Given the description of an element on the screen output the (x, y) to click on. 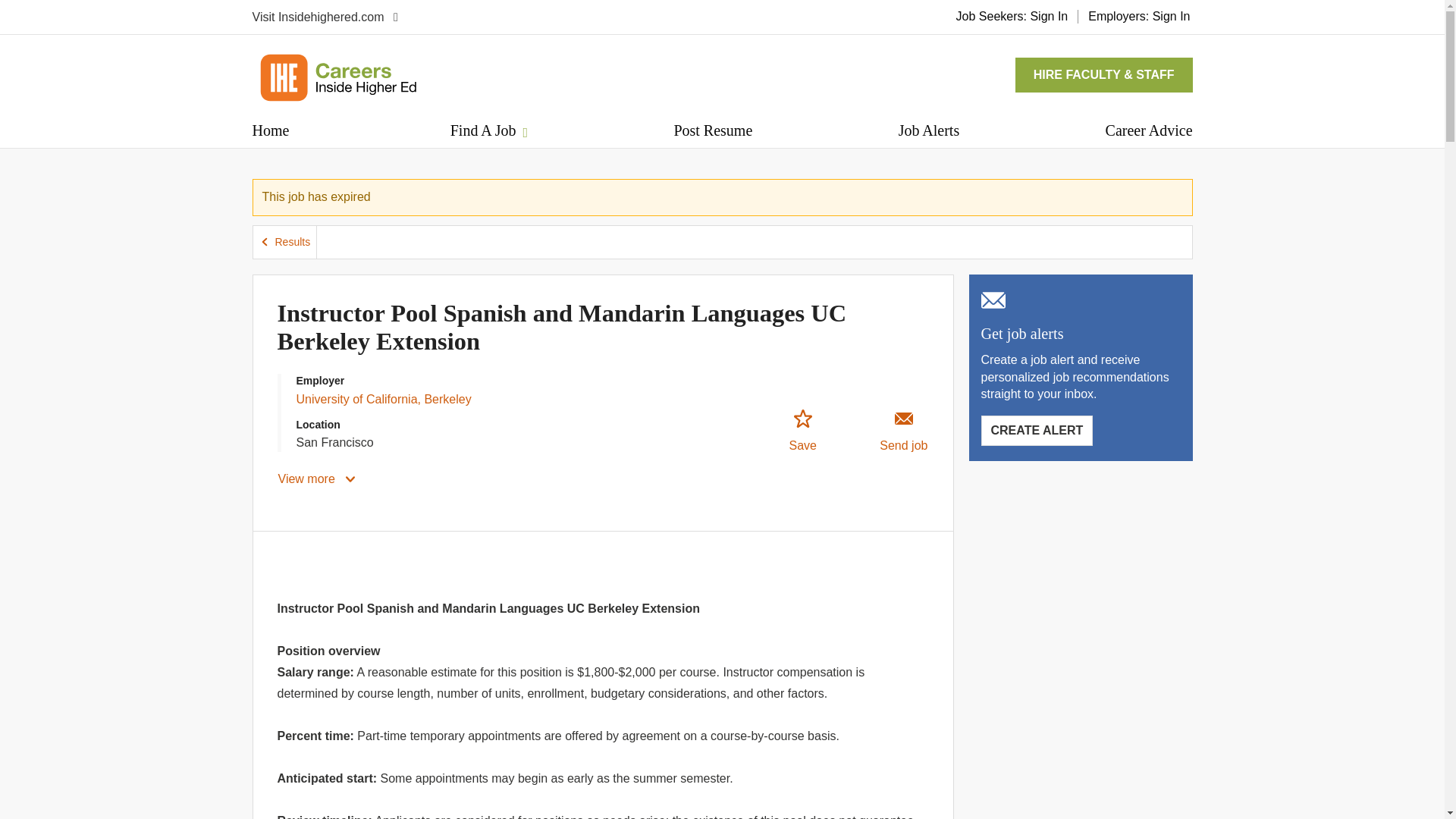
University of California, Berkeley (382, 399)
Job Seekers: Sign In (1011, 16)
View more (318, 479)
Job Alerts (928, 130)
Career Advice (1148, 130)
Home (269, 130)
Results (285, 242)
Employers: Sign In (1139, 16)
Inside Higher Ed Careers (337, 76)
Post Resume (712, 130)
